Given the description of an element on the screen output the (x, y) to click on. 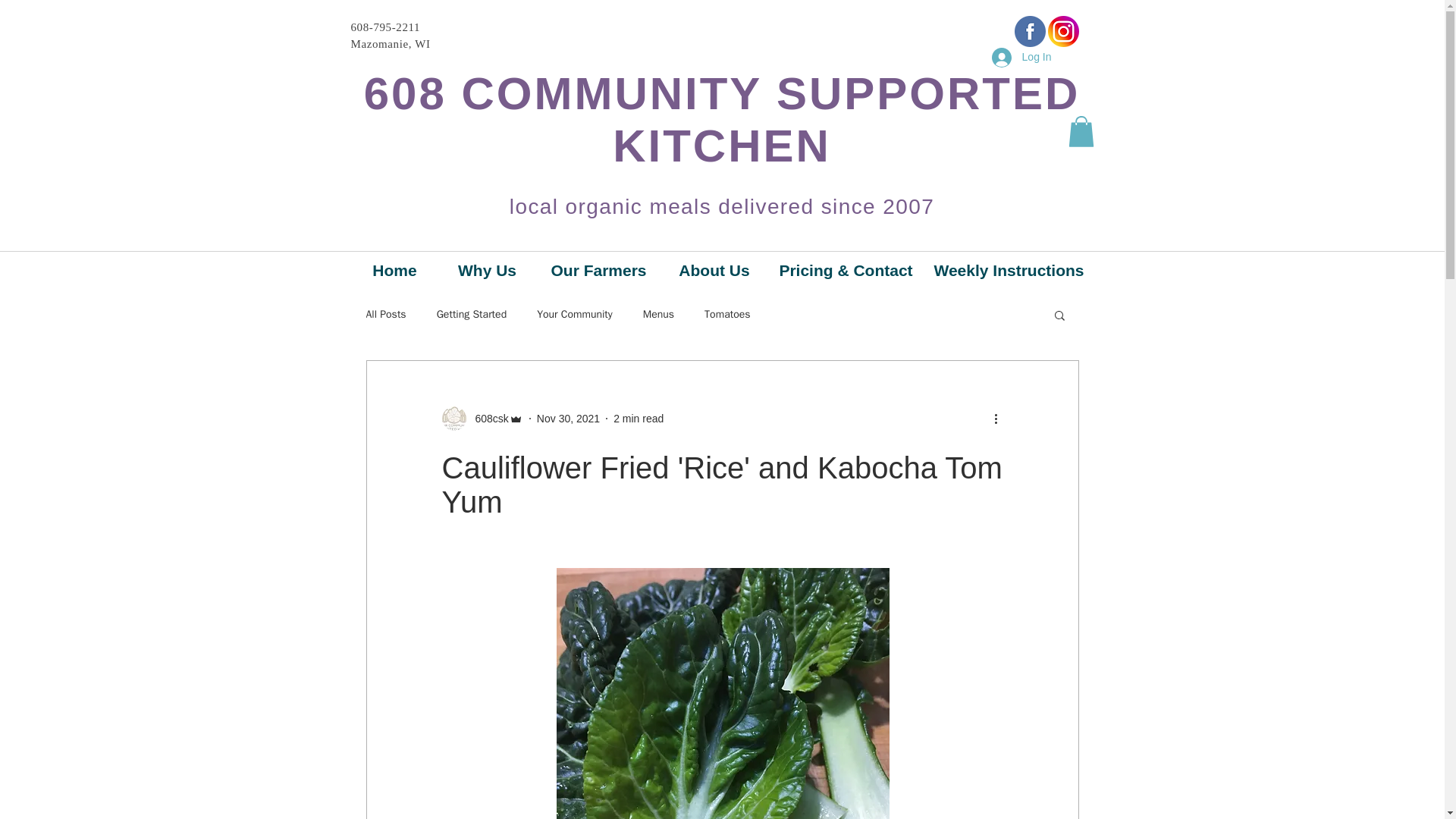
Our Farmers (598, 270)
608csk (481, 418)
2 min read (637, 418)
Log In (1021, 57)
Getting Started (471, 314)
Tomatoes (726, 314)
Weekly Instructions (1008, 270)
Home (394, 270)
Your Community (574, 314)
Menus (658, 314)
About Us (714, 270)
Why Us (486, 270)
All Posts (385, 314)
608 COMMUNITY SUPPORTED KITCHEN (722, 119)
Nov 30, 2021 (568, 418)
